Given the description of an element on the screen output the (x, y) to click on. 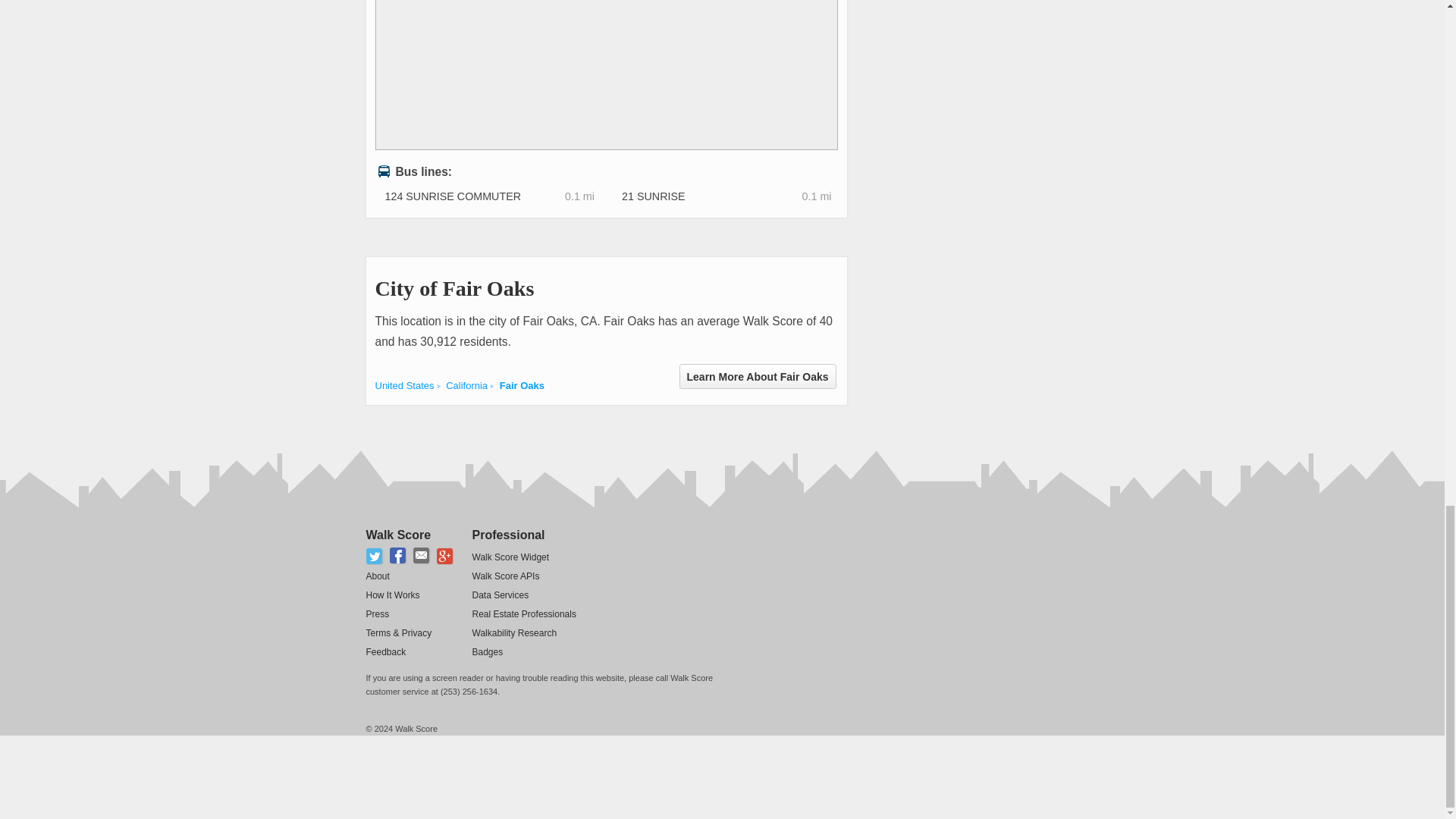
United States Walkability Rankings (403, 385)
California (466, 385)
Cities in California state (466, 385)
United States (403, 385)
Learn More About Fair Oaks (757, 376)
